Given the description of an element on the screen output the (x, y) to click on. 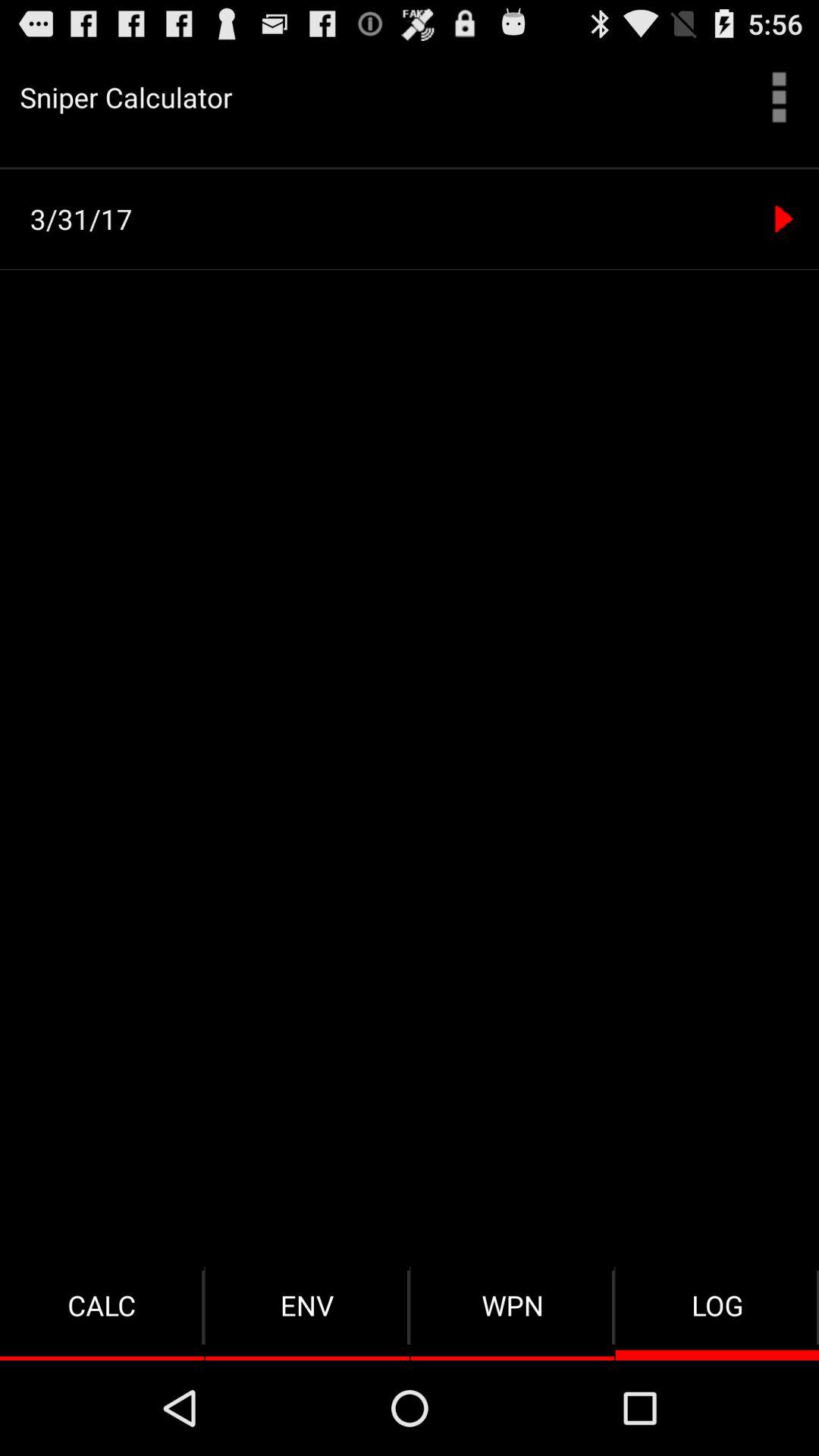
turn off icon above calc (414, 219)
